Given the description of an element on the screen output the (x, y) to click on. 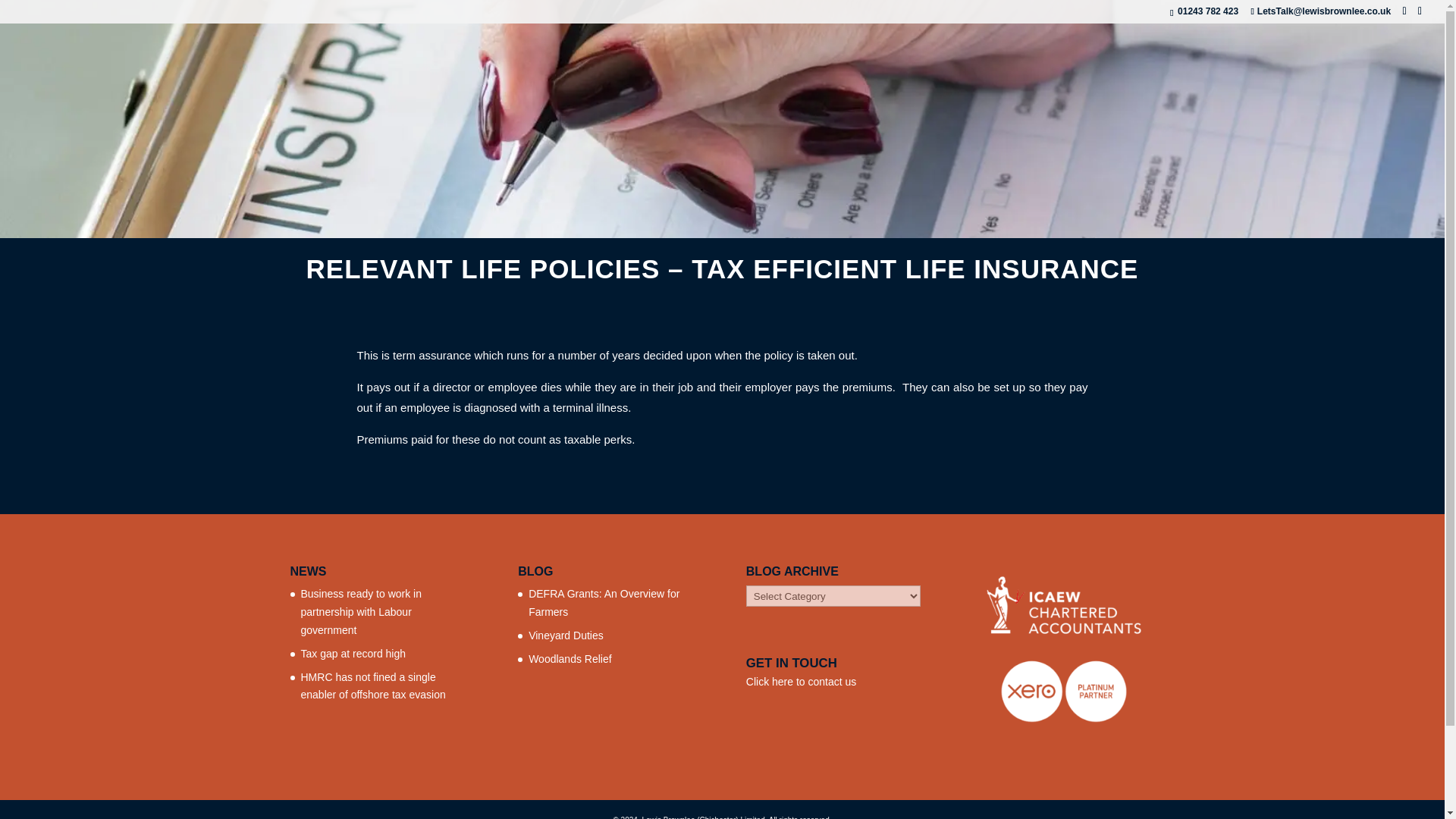
01243 782 423 (1207, 10)
